Given the description of an element on the screen output the (x, y) to click on. 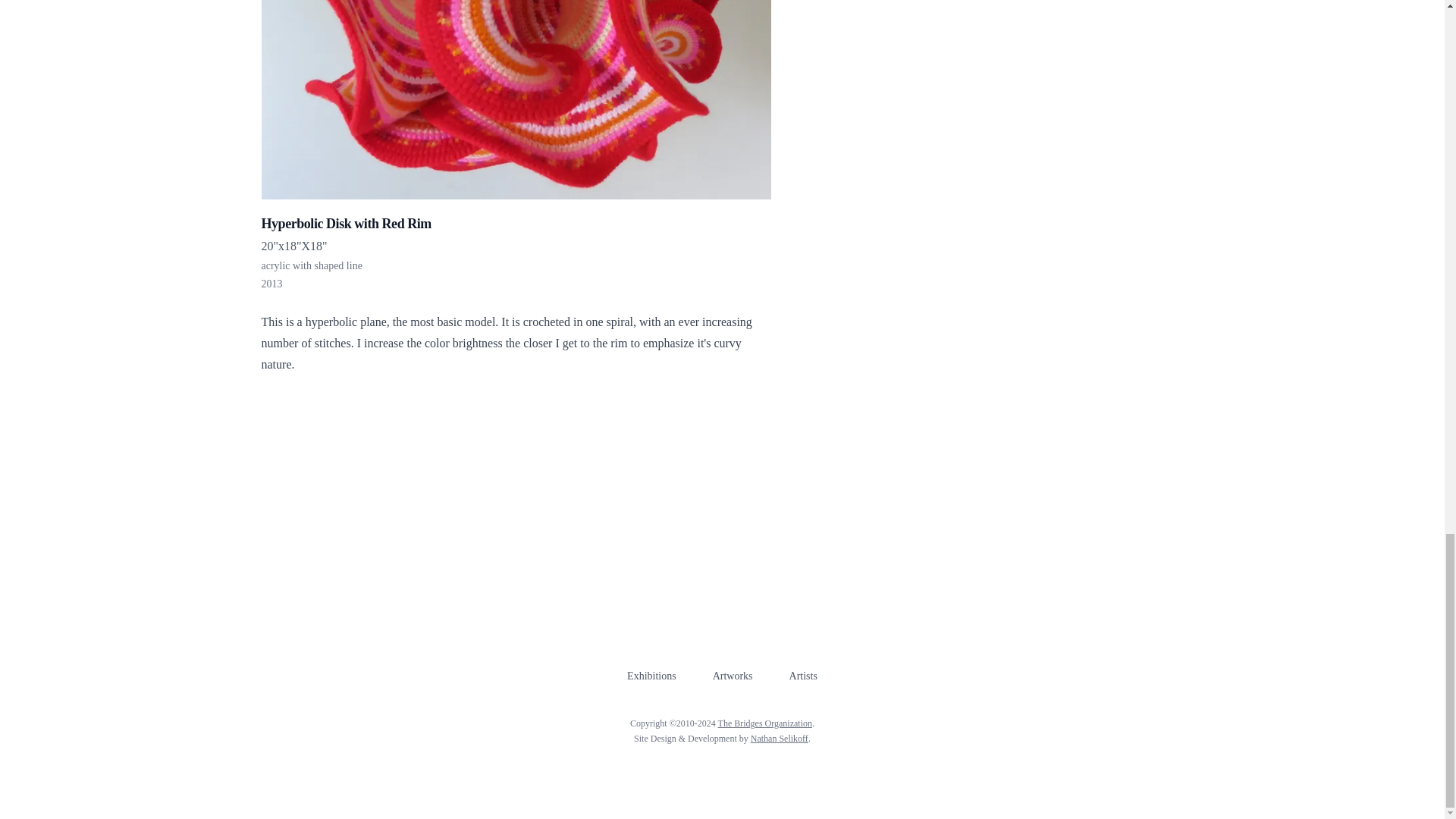
Artists (802, 675)
Exhibitions (652, 675)
The Bridges Organization (764, 723)
Artworks (732, 675)
Nathan Selikoff (779, 738)
